Given the description of an element on the screen output the (x, y) to click on. 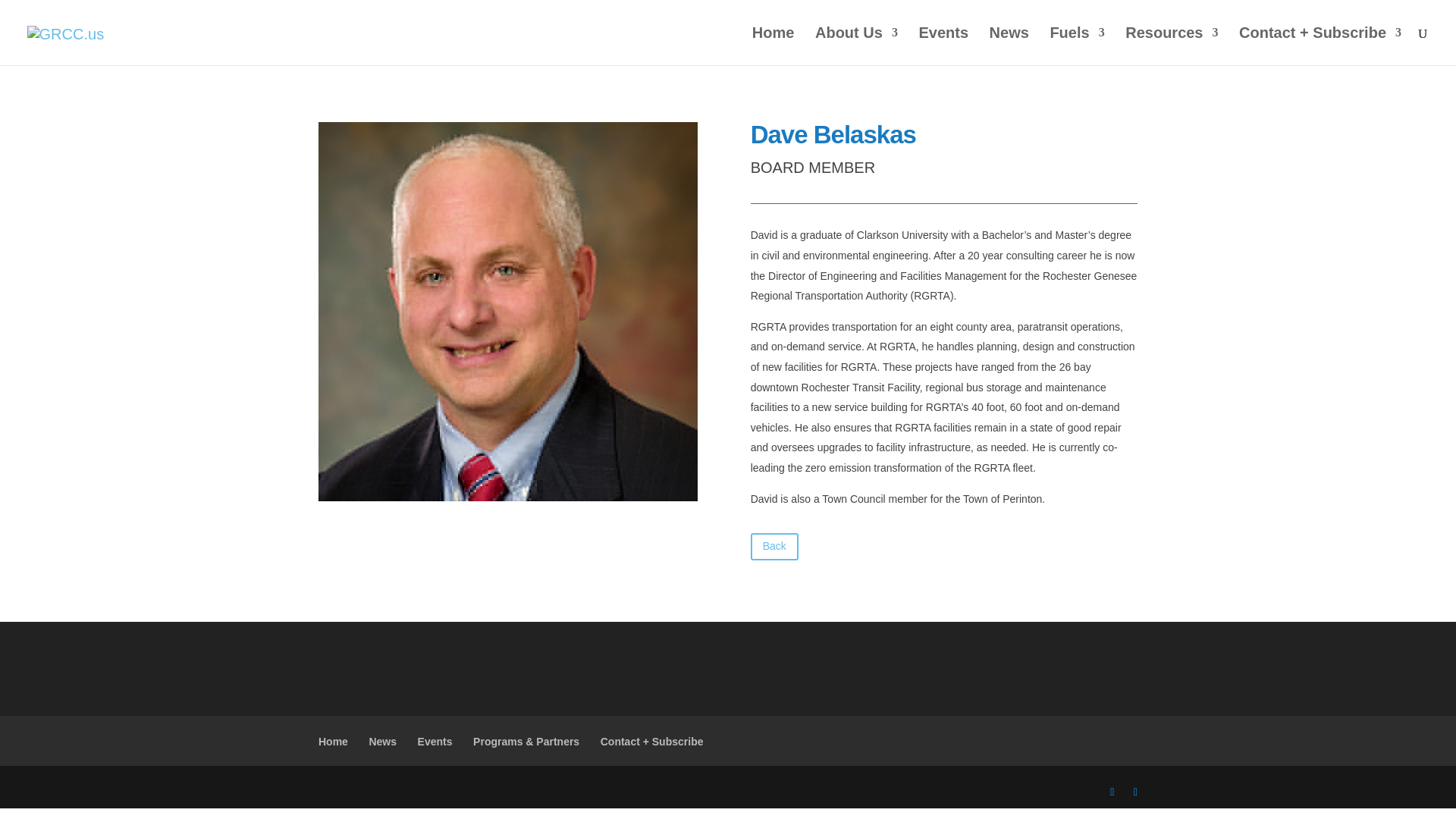
Home (773, 46)
Events (943, 46)
Fuels (1076, 46)
Home (332, 741)
About Us (856, 46)
Resources (1171, 46)
News (382, 741)
News (1009, 46)
Back (774, 546)
Events (434, 741)
